Given the description of an element on the screen output the (x, y) to click on. 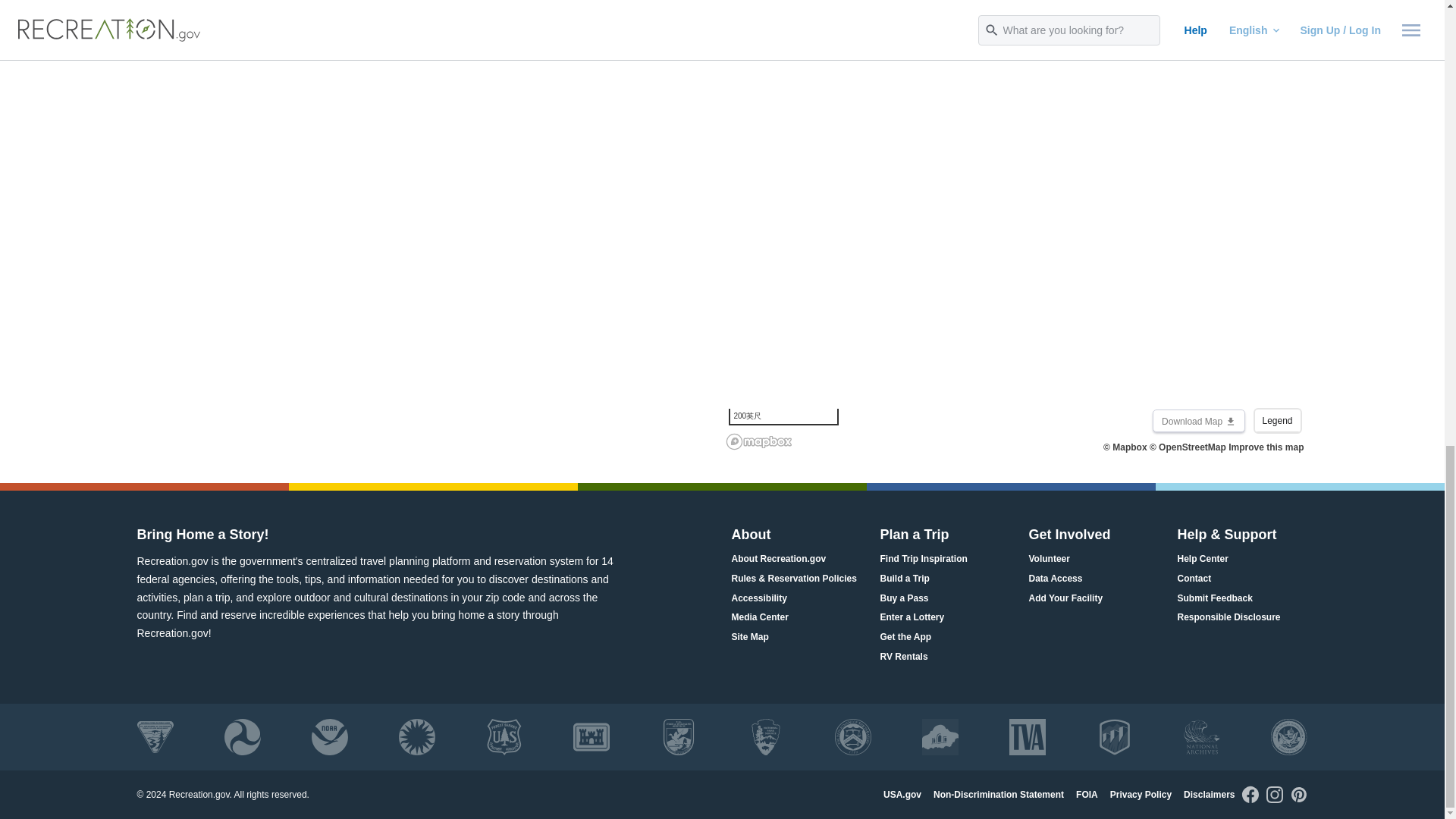
Improve this map (1265, 447)
Mapbox (1125, 447)
OpenStreetMap (1187, 447)
